Given the description of an element on the screen output the (x, y) to click on. 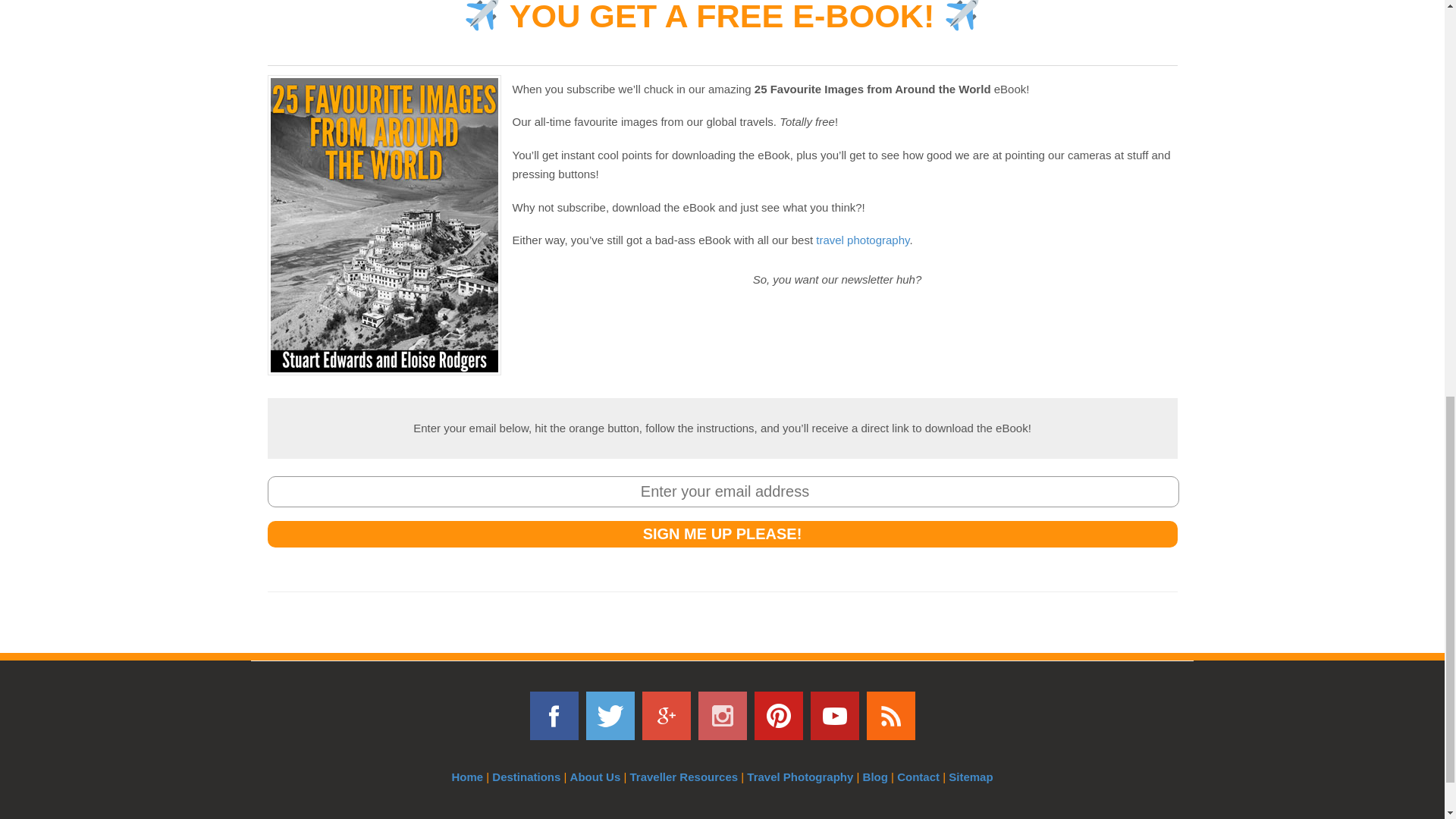
travel photography (861, 239)
About Us (595, 776)
SIGN ME UP PLEASE! (721, 533)
Travel Photography (799, 776)
Contact (917, 776)
Blog (875, 776)
Traveller Resources (683, 776)
Sitemap (970, 776)
Destinations (526, 776)
SIGN ME UP PLEASE! (721, 533)
Home (467, 776)
